Given the description of an element on the screen output the (x, y) to click on. 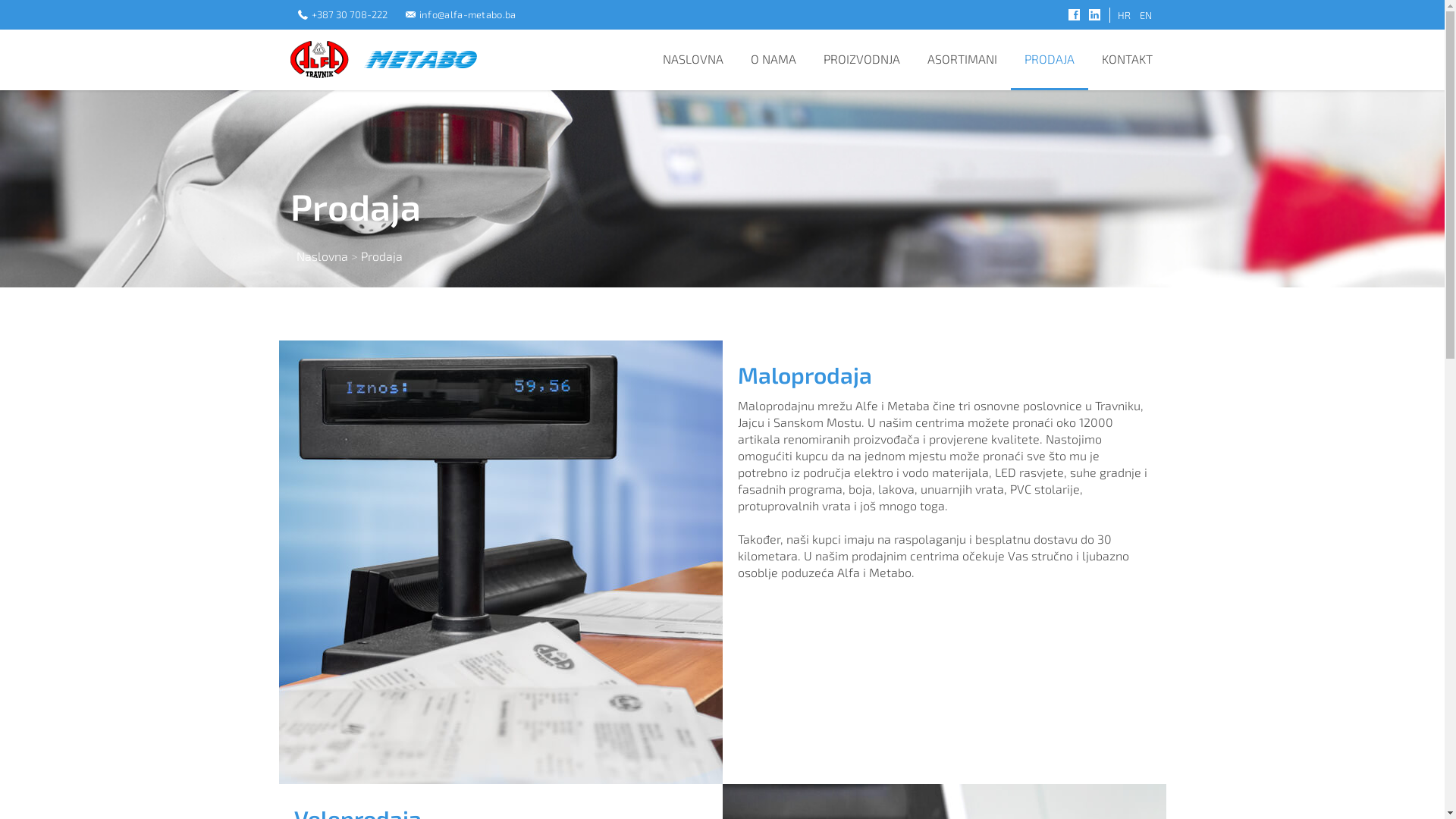
EN Element type: text (1145, 15)
O NAMA Element type: text (773, 58)
KONTAKT Element type: text (1126, 58)
ASORTIMANI Element type: text (961, 58)
NASLOVNA Element type: text (693, 58)
PROIZVODNJA Element type: text (861, 58)
HR Element type: text (1118, 14)
PRODAJA Element type: text (1048, 59)
Naslovna Element type: text (321, 255)
